Given the description of an element on the screen output the (x, y) to click on. 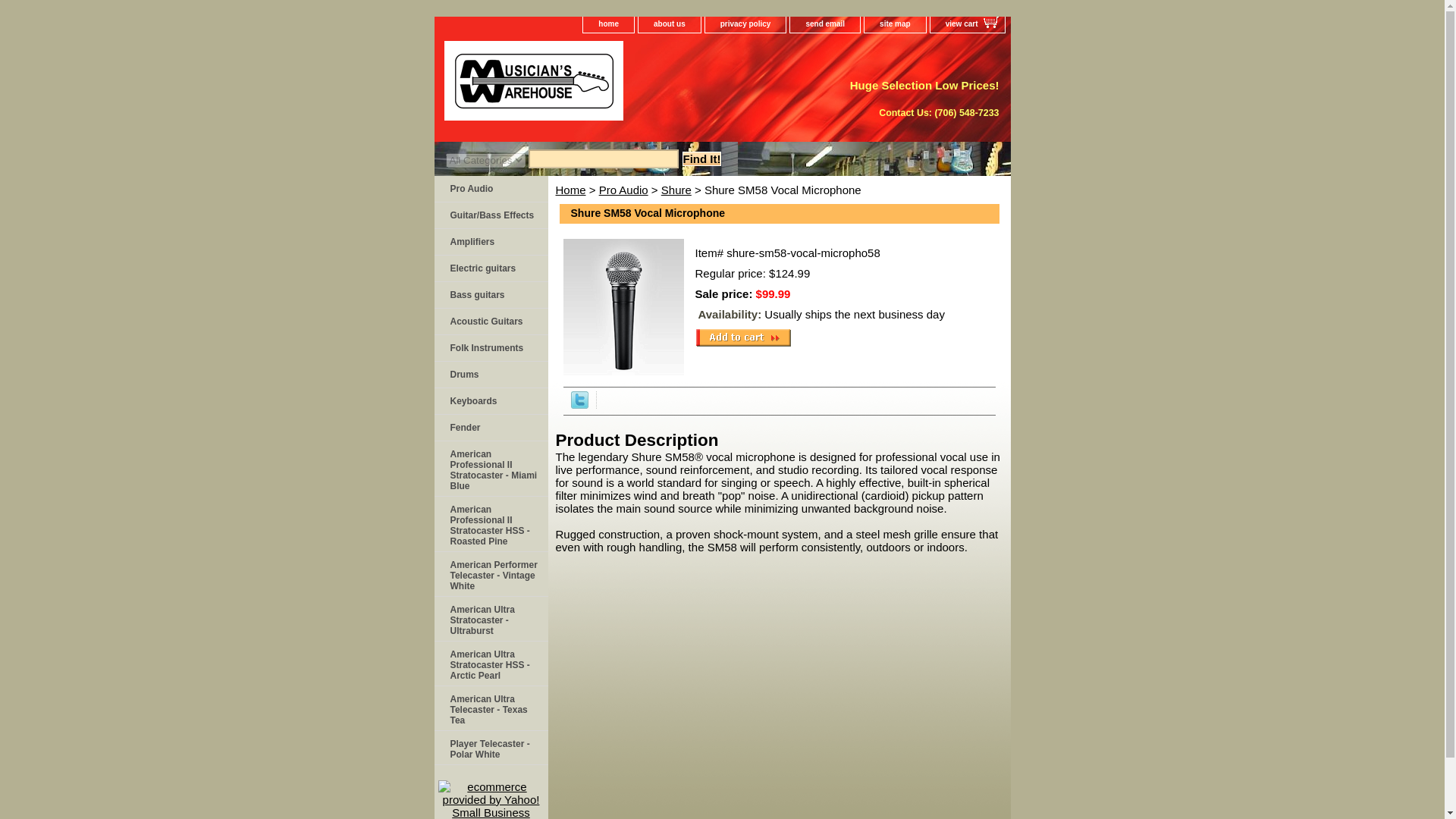
Find It! (702, 158)
American Professional II Stratocaster - Miami Blue (490, 468)
Shure (676, 189)
Player Telecaster - Polar White (490, 747)
Keyboards (490, 401)
Folk Instruments (490, 347)
American Ultra Stratocaster HSS - Arctic Pearl (490, 663)
The Musician's Warehouse (622, 85)
about us (669, 24)
Amplifiers (490, 242)
American Professional II Stratocaster HSS - Roasted Pine (490, 524)
Keyboards (490, 401)
American Performer Telecaster - Vintage White (490, 574)
Bass guitars (490, 294)
American Performer Telecaster - Vintage White (490, 574)
